Given the description of an element on the screen output the (x, y) to click on. 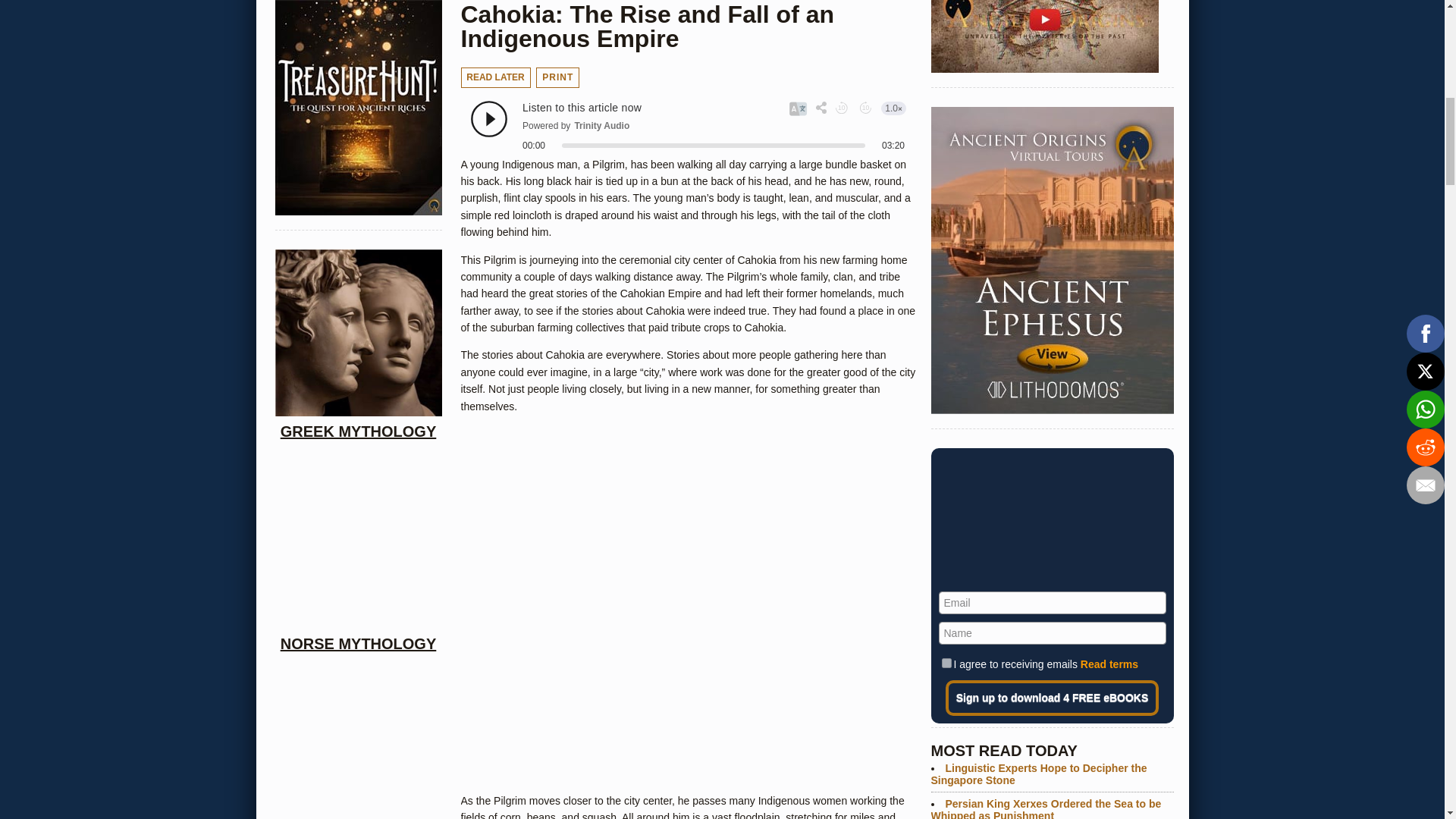
I approve receiving emails (947, 663)
